Given the description of an element on the screen output the (x, y) to click on. 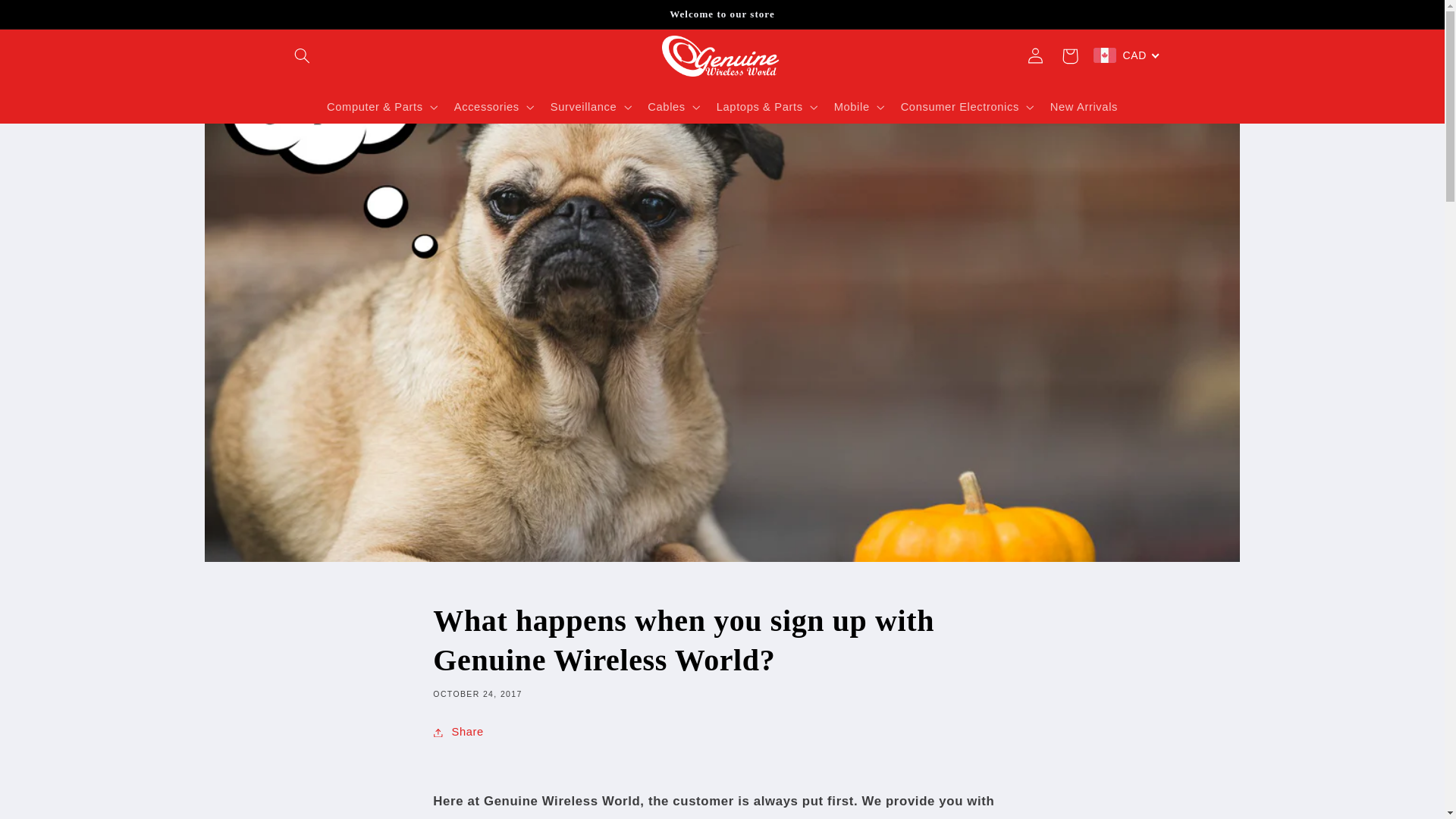
Skip to content (48, 18)
